Given the description of an element on the screen output the (x, y) to click on. 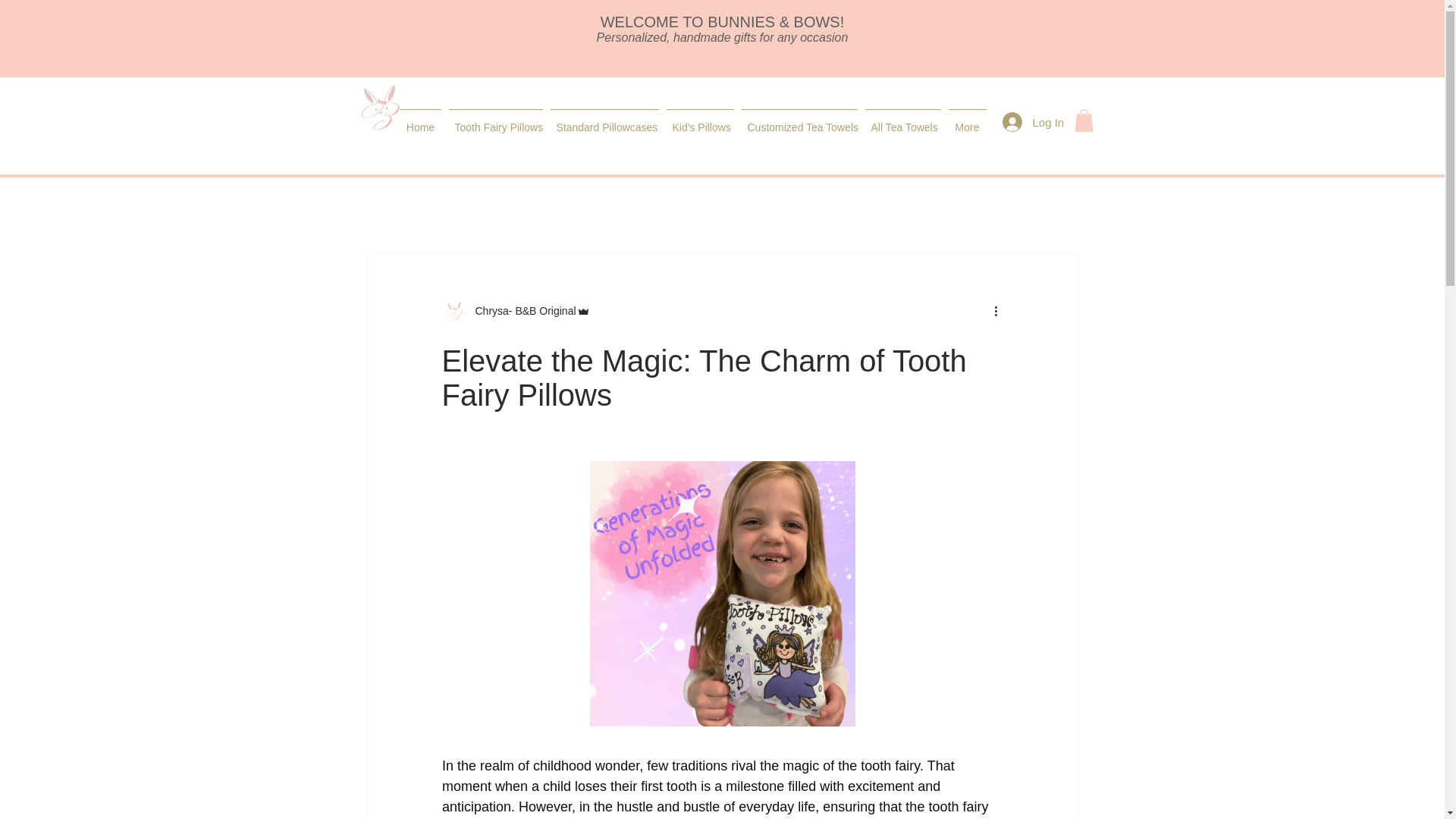
Customized Tea Towels (798, 119)
National Tooth Fairy Day (891, 206)
Standard Pillowcases (604, 119)
Tooth fairy (681, 206)
Tooth Fairy Pillows (495, 119)
Getting Started (476, 206)
Kid's Pillows (700, 119)
Log In (1031, 121)
All Posts (387, 206)
All Tea Towels (902, 119)
